Given the description of an element on the screen output the (x, y) to click on. 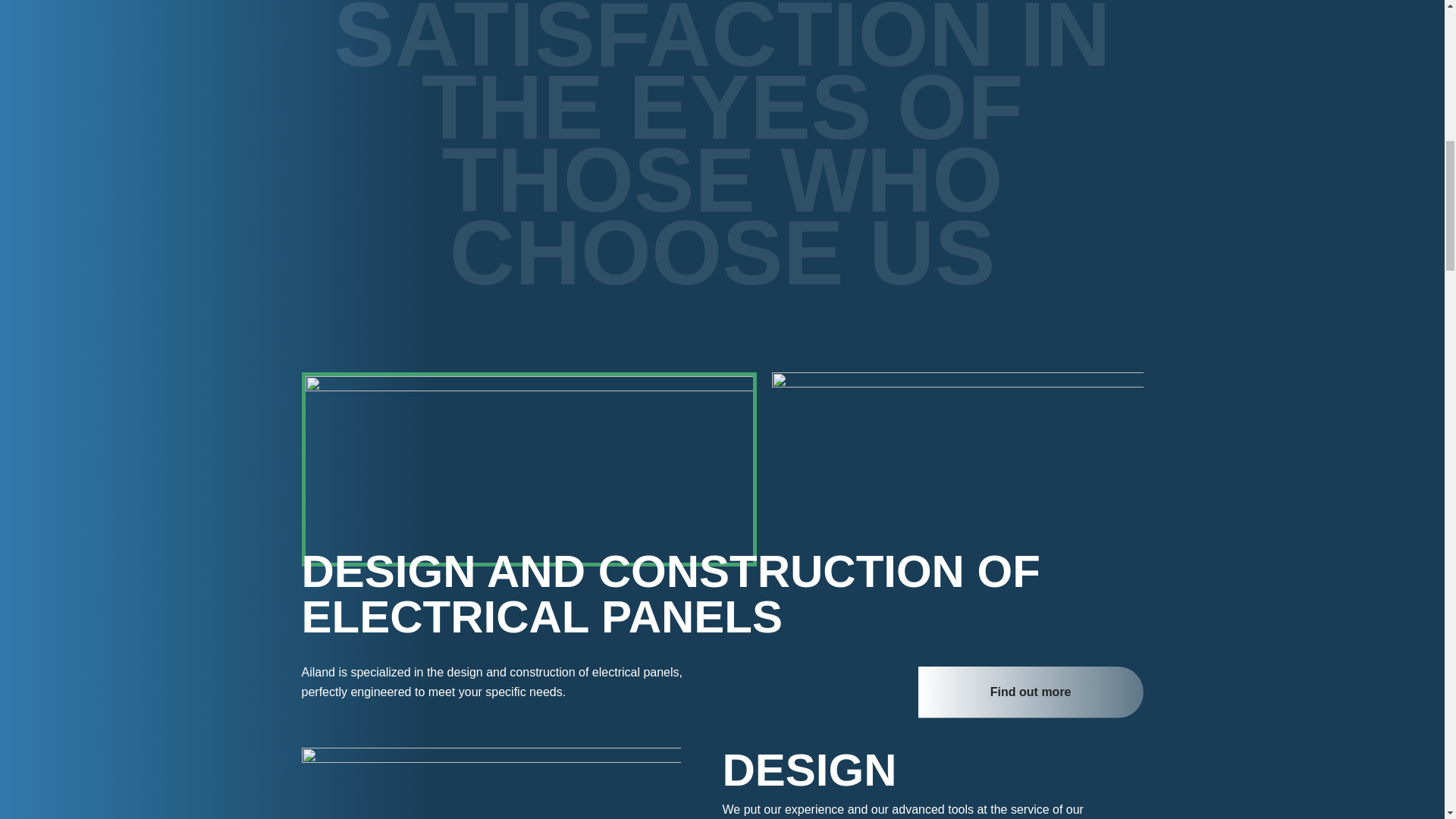
Find out more (1030, 691)
archivio-servizi-2 (491, 783)
archivio-prodotti-2 (528, 468)
archivio-servizi-4 (956, 446)
